Given the description of an element on the screen output the (x, y) to click on. 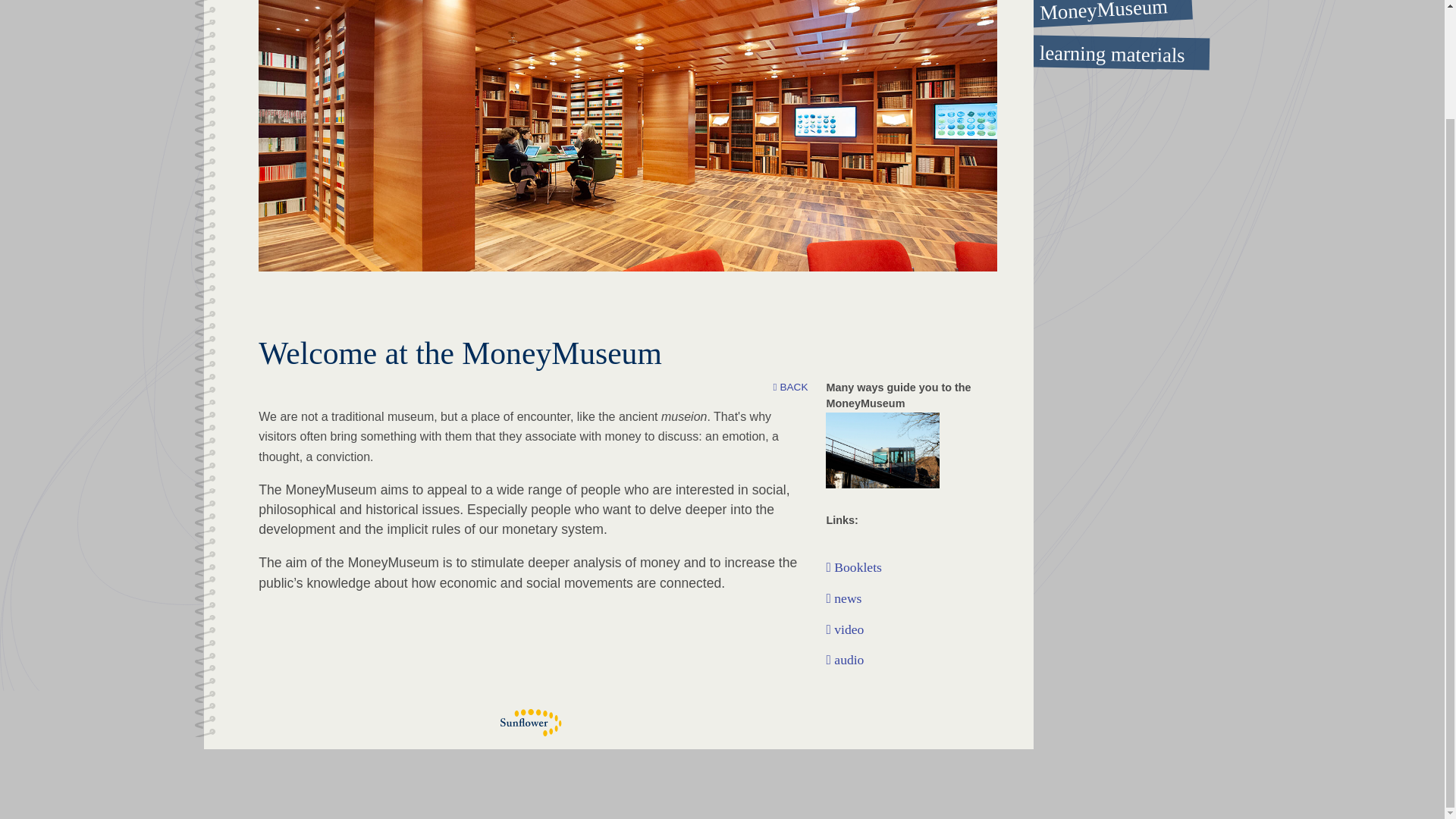
MoneyMuseum (1096, 9)
learning materials (1097, 50)
BACK (790, 387)
